Given the description of an element on the screen output the (x, y) to click on. 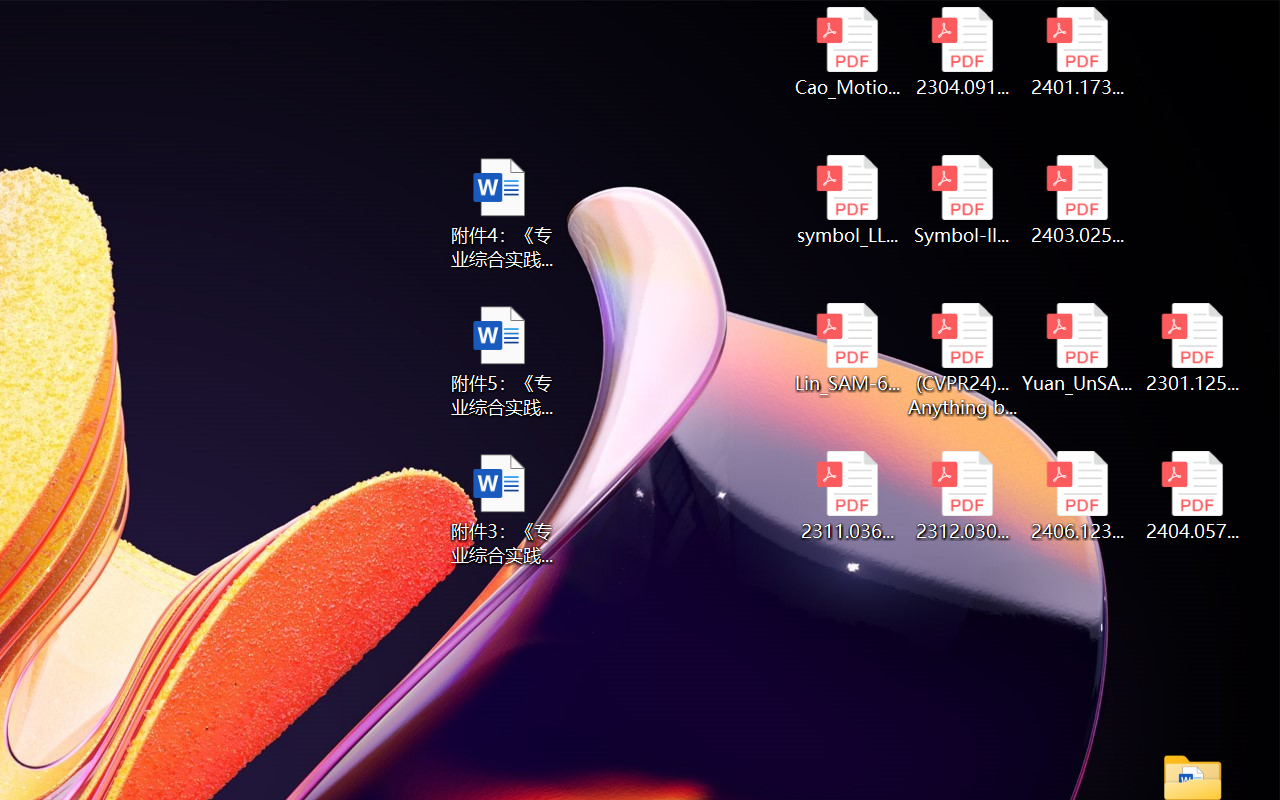
Symbol-llm-v2.pdf (962, 200)
